Given the description of an element on the screen output the (x, y) to click on. 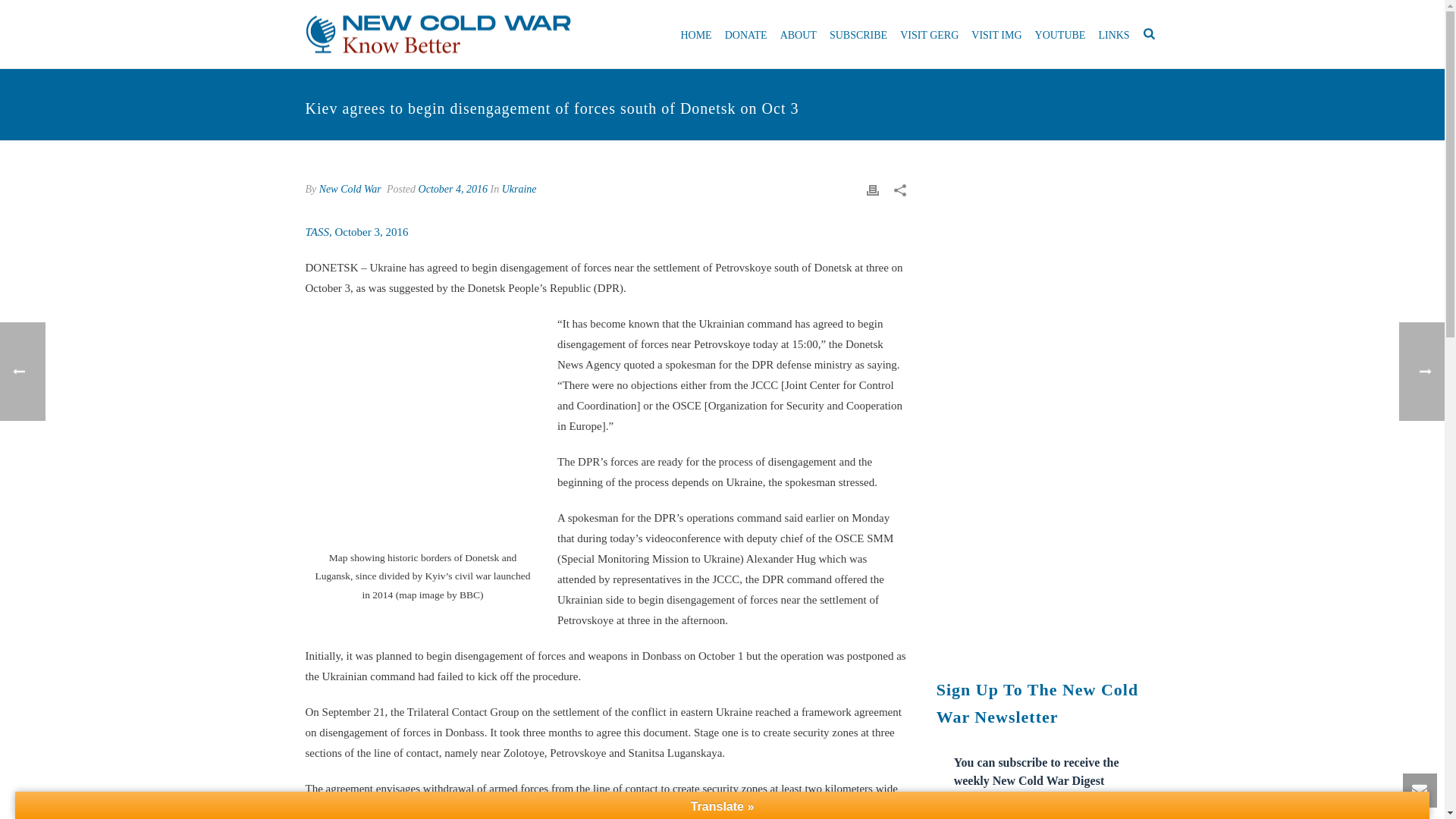
YOUTUBE (1060, 33)
VISIT GERG (928, 33)
SUBSCRIBE (858, 33)
Ukraine (519, 188)
October 4, 2016 (453, 188)
TASS, October 3, 2016 (355, 232)
New Cold War (349, 188)
YOUTUBE (1060, 33)
VISIT IMG (996, 33)
SUBSCRIBE (858, 33)
VISIT IMG (996, 33)
Posts by New Cold War (349, 188)
New Cold War: Know Better (437, 34)
VISIT GERG (928, 33)
